Given the description of an element on the screen output the (x, y) to click on. 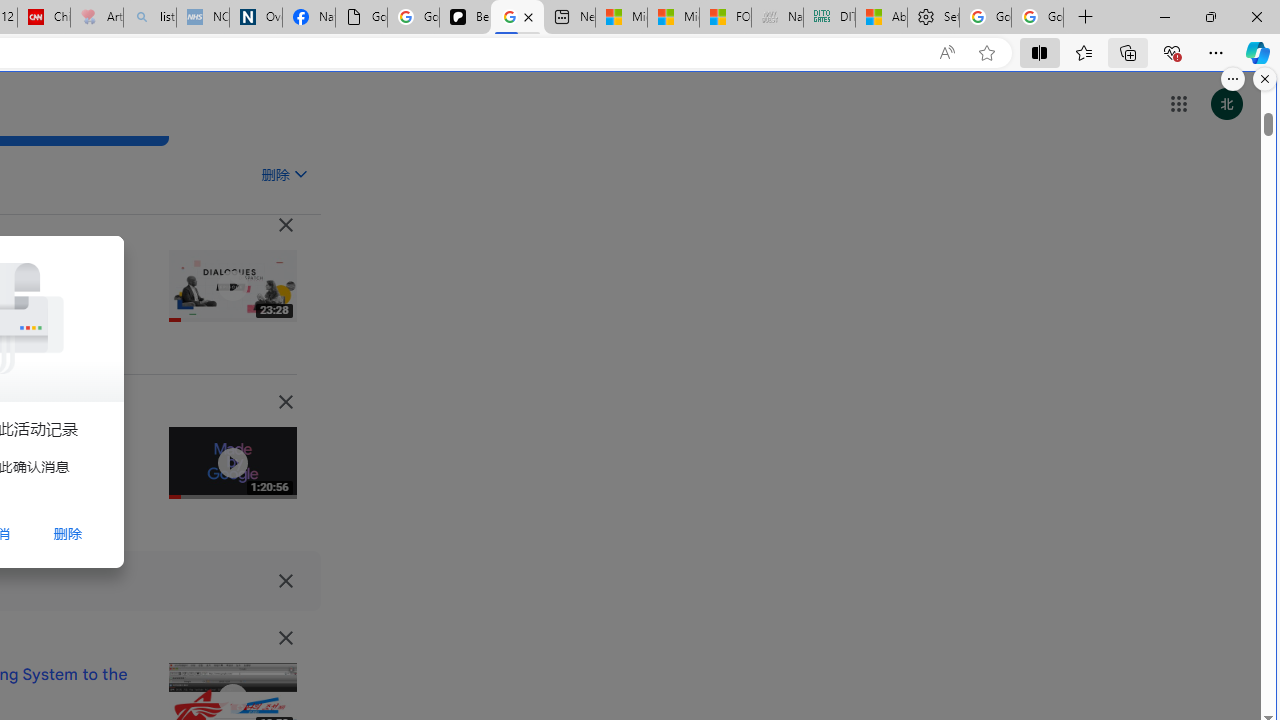
Class: IVR0f NMm5M (231, 699)
Google Analytics Opt-out Browser Add-on Download Page (360, 17)
Arthritis: Ask Health Professionals - Sleeping (96, 17)
More options. (1233, 79)
